Given the description of an element on the screen output the (x, y) to click on. 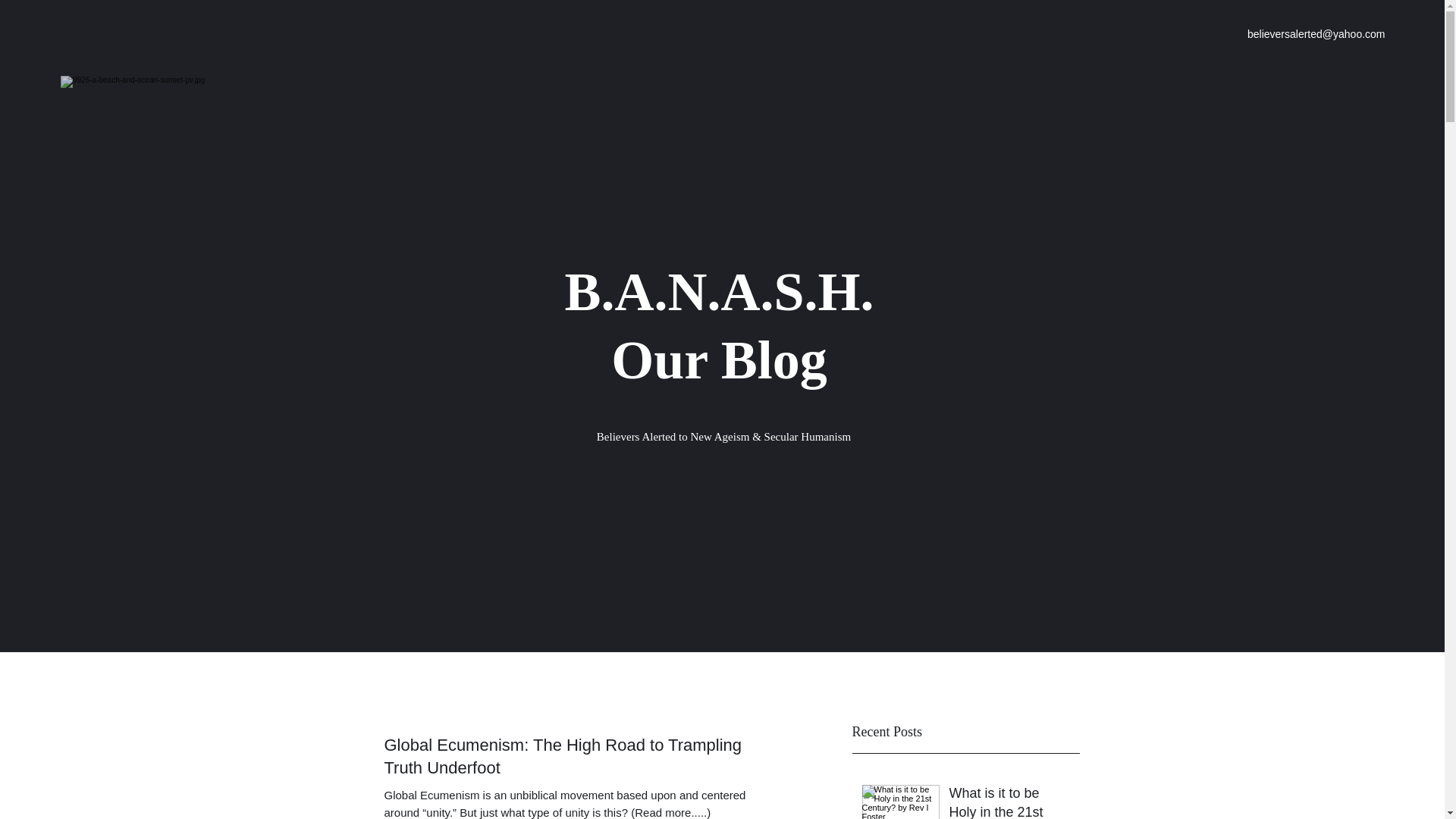
What is it to be Holy in the 21st Century? by Rev I Foster (1009, 801)
